Given the description of an element on the screen output the (x, y) to click on. 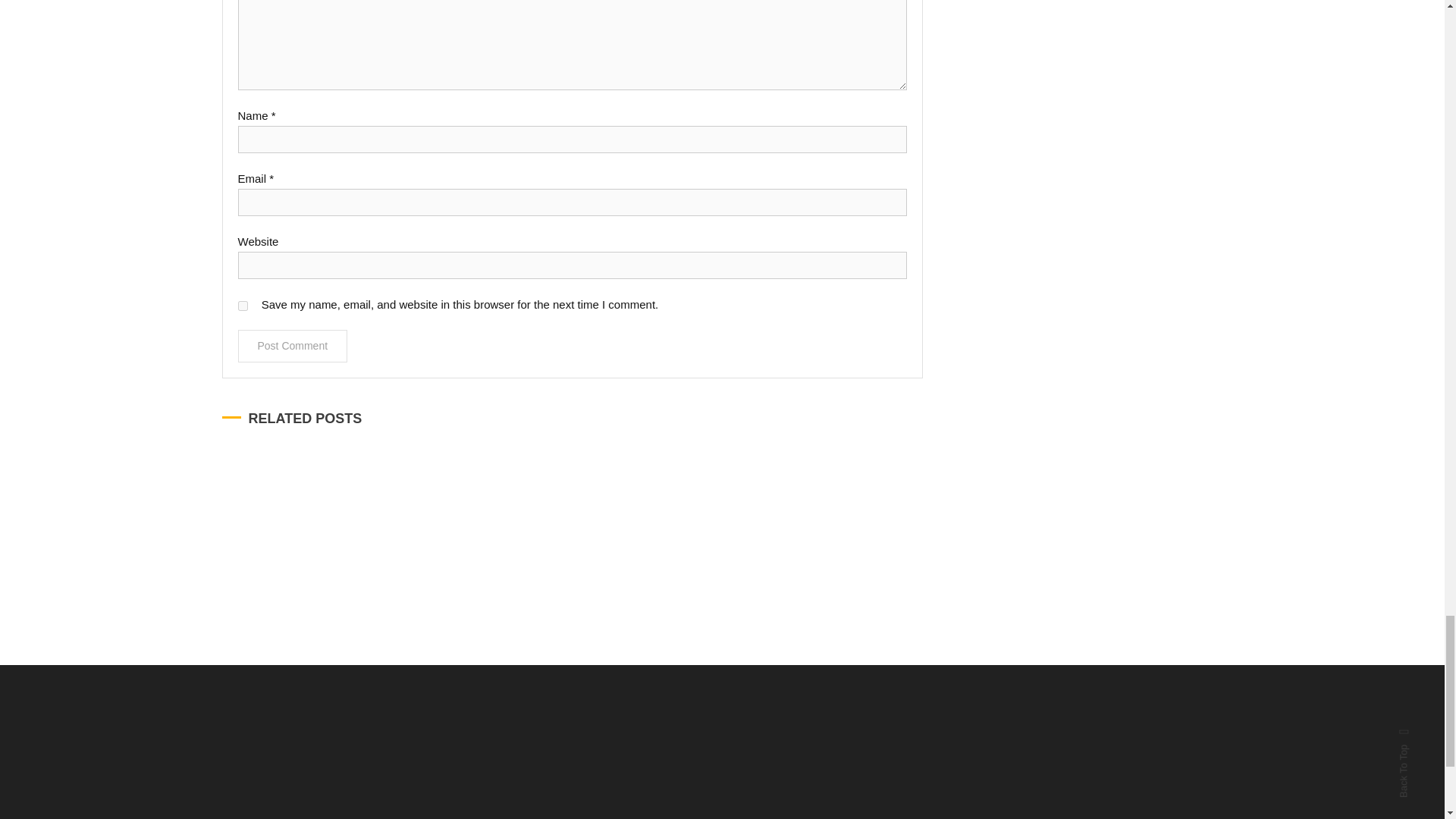
Post Comment (292, 346)
yes (242, 306)
